Given the description of an element on the screen output the (x, y) to click on. 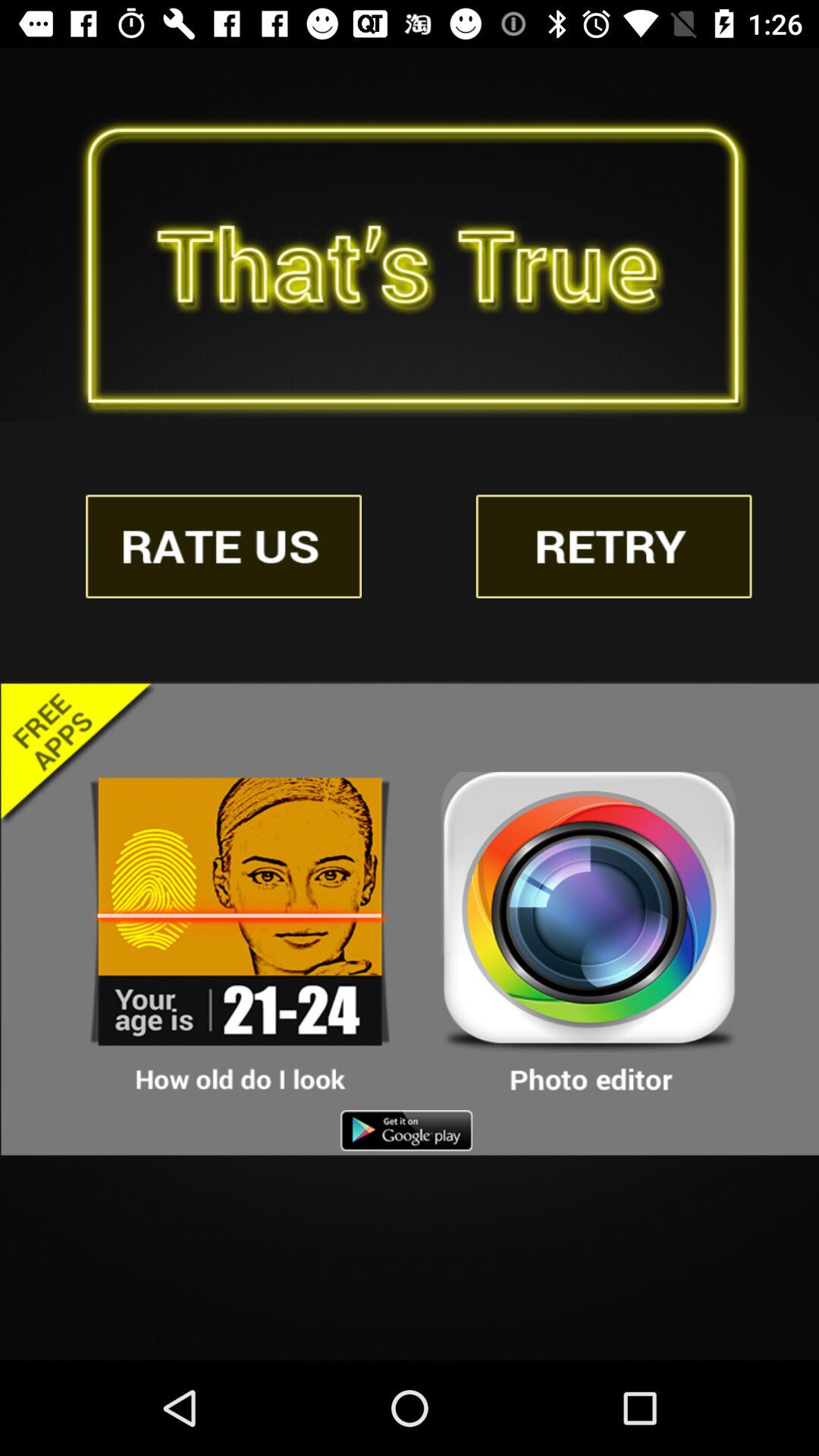
select the advertisement (223, 546)
